Given the description of an element on the screen output the (x, y) to click on. 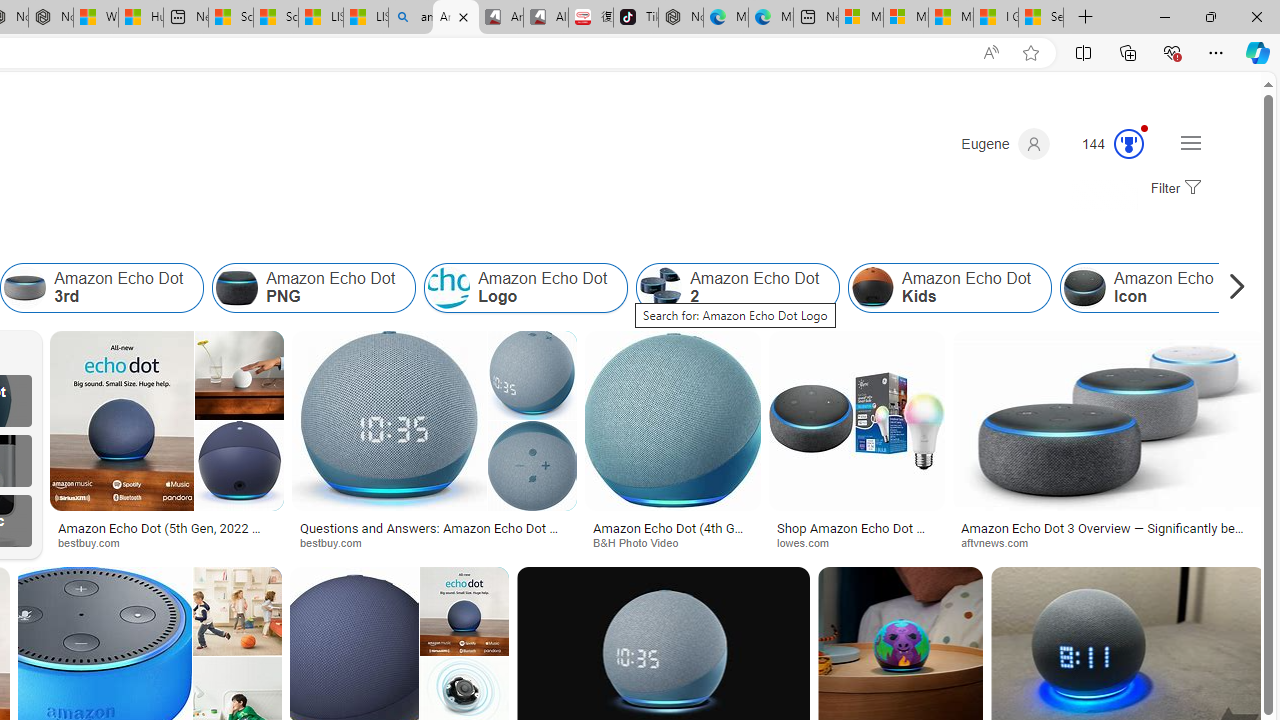
Nordace - Summer Adventures 2024 (50, 17)
Wildlife - MSN (95, 17)
Amazon Echo Dot 2 (661, 287)
Image result for Amazon Echo Dot Colors (1109, 421)
Amazon Echo Dot Icon (1085, 287)
Image result for Amazon Echo Dot Colors (464, 611)
Huge shark washes ashore at New York City beach | Watch (140, 17)
Class: outer-circle-animation (1129, 143)
Settings and quick links (1190, 142)
